Given the description of an element on the screen output the (x, y) to click on. 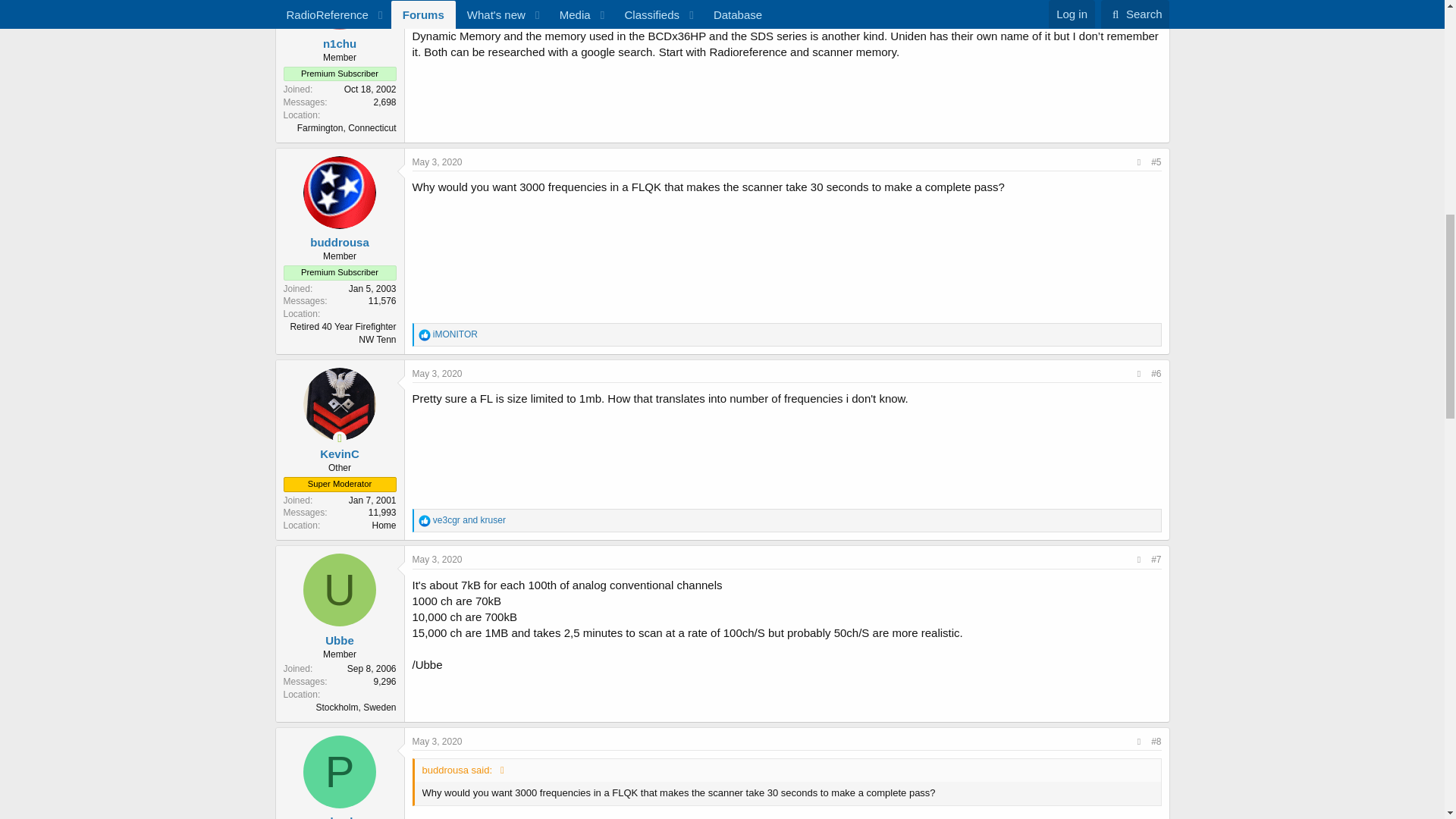
May 3, 2020 at 7:10 AM (437, 373)
May 3, 2020 at 9:59 AM (437, 559)
May 3, 2020 at 10:13 AM (437, 740)
Like (424, 521)
May 3, 2020 at 6:48 AM (437, 162)
Like (424, 335)
